Given the description of an element on the screen output the (x, y) to click on. 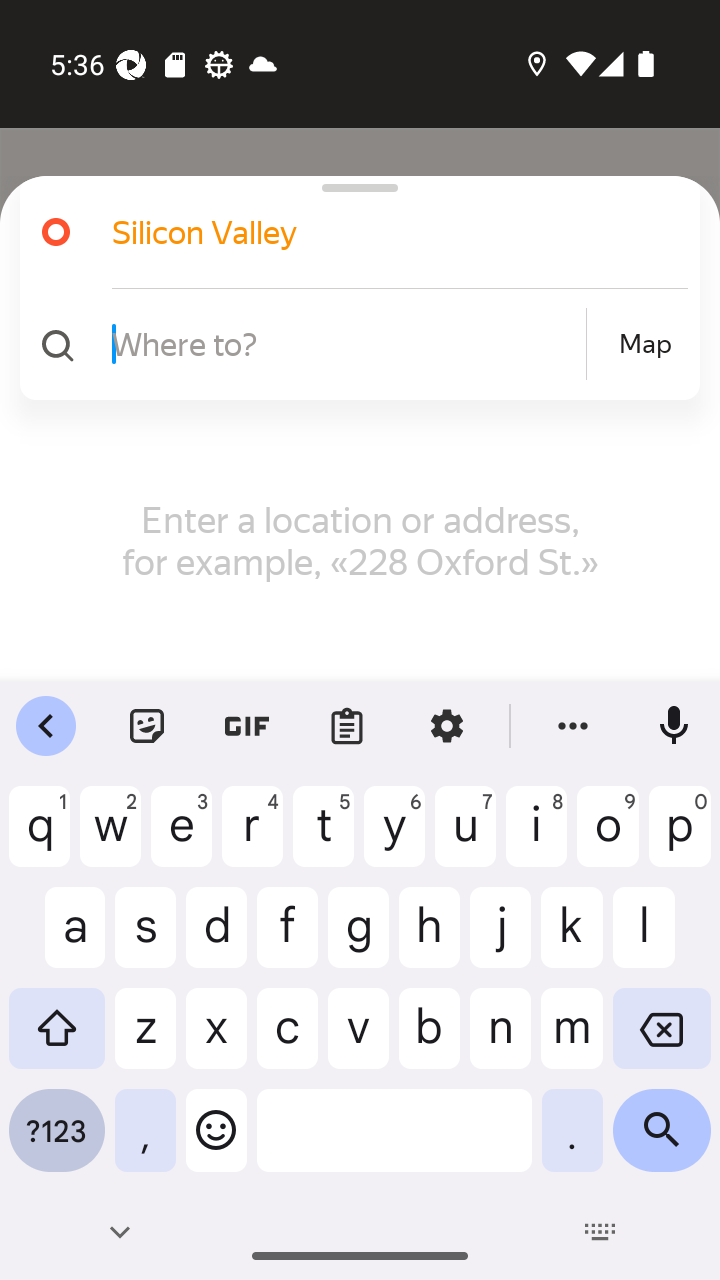
Silicon Valley (352, 232)
Silicon Valley (373, 232)
Where to? Map Map (352, 343)
Map (645, 343)
Where to? (346, 343)
